Given the description of an element on the screen output the (x, y) to click on. 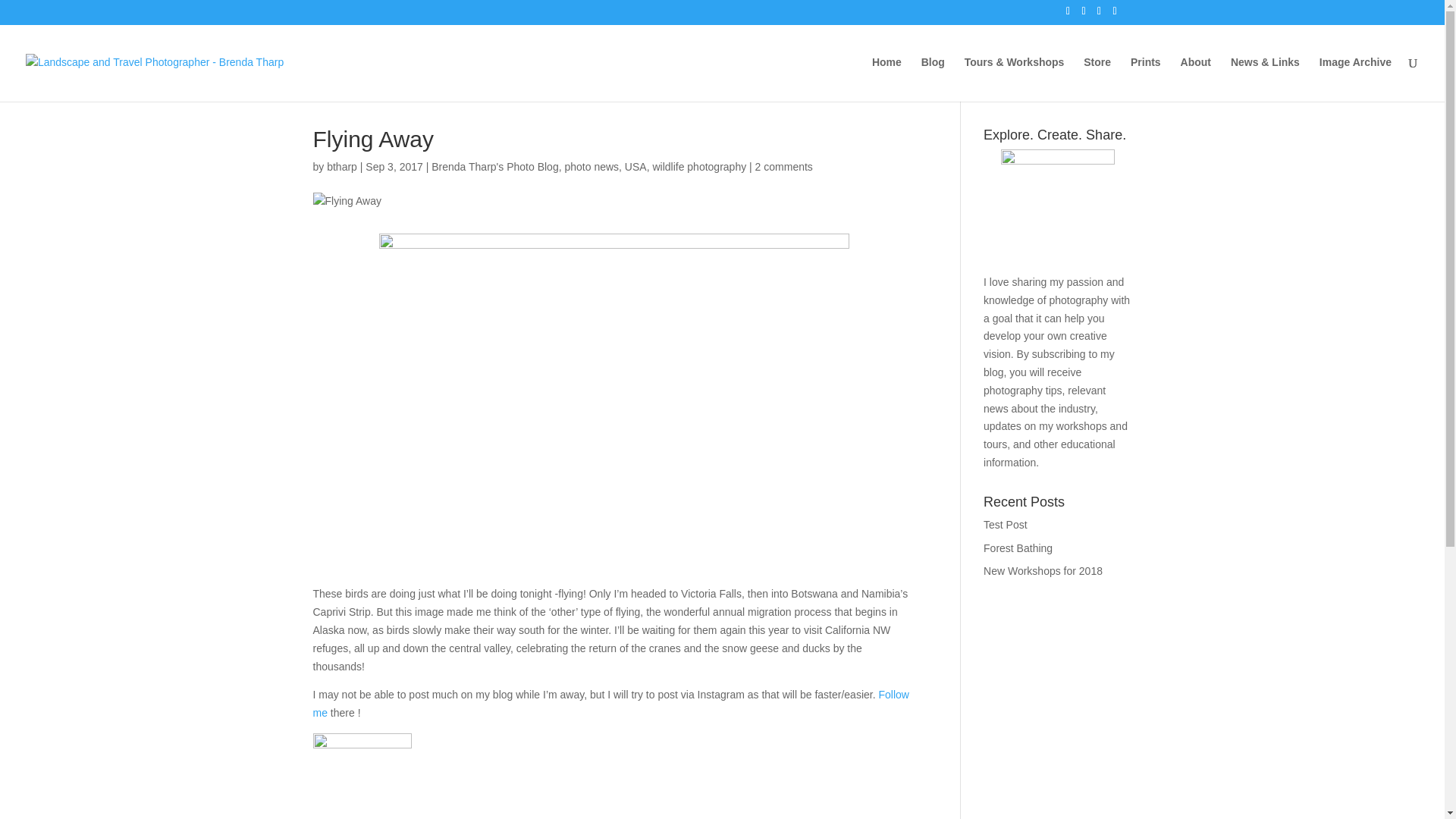
Brenda Tharp's Photo Blog (493, 166)
Posts by btharp (341, 166)
Test Post (1005, 524)
2 comments (783, 166)
wildlife photography (698, 166)
Forest Bathing (1018, 548)
Follow me (610, 703)
photo news (591, 166)
btharp (341, 166)
New Workshops for 2018 (1043, 571)
USA (635, 166)
Image Archive (1355, 78)
